Given the description of an element on the screen output the (x, y) to click on. 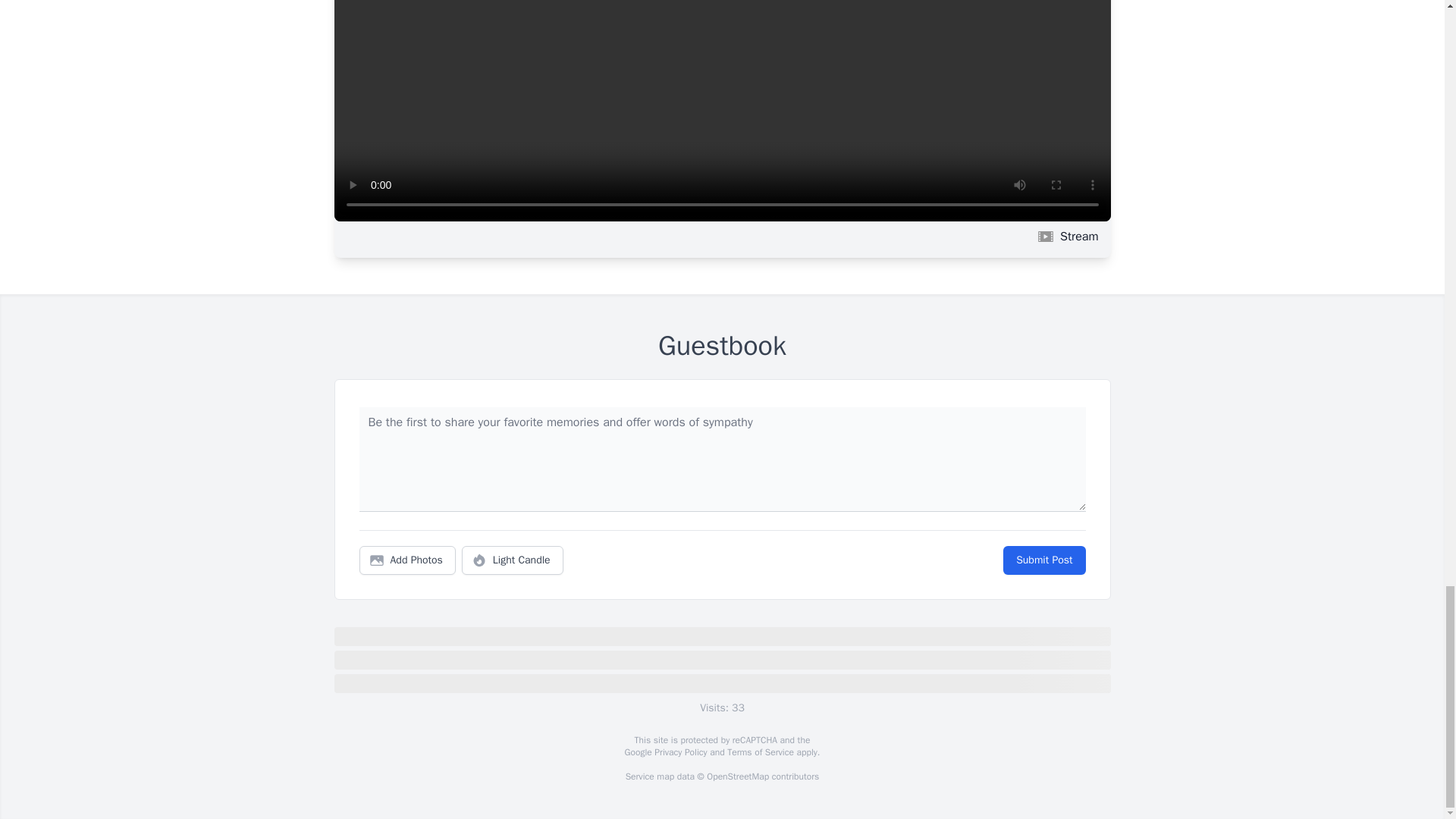
Submit Post (1043, 560)
OpenStreetMap (737, 776)
Privacy Policy (679, 752)
Add Photos (407, 560)
Terms of Service (759, 752)
Light Candle (512, 560)
